Given the description of an element on the screen output the (x, y) to click on. 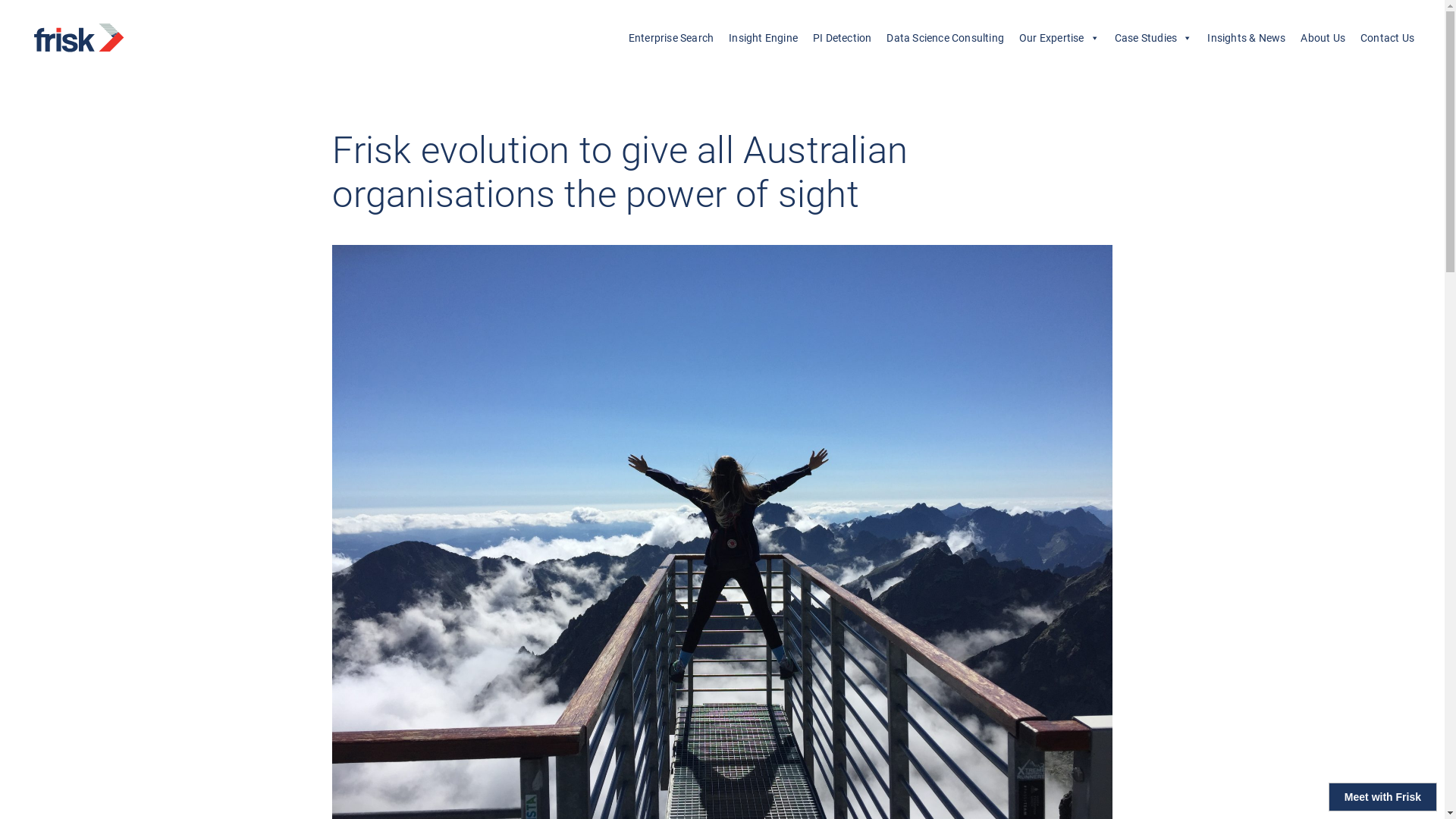
Frisk Element type: text (98, 37)
Enterprise Search Element type: text (671, 37)
Contact Us Element type: text (1386, 37)
Insights & News Element type: text (1245, 37)
About Us Element type: text (1322, 37)
Data Science Consulting Element type: text (944, 37)
Insight Engine Element type: text (763, 37)
Our Expertise Element type: text (1059, 37)
PI Detection Element type: text (841, 37)
Case Studies Element type: text (1153, 37)
Meet with Frisk Element type: text (1382, 796)
